Given the description of an element on the screen output the (x, y) to click on. 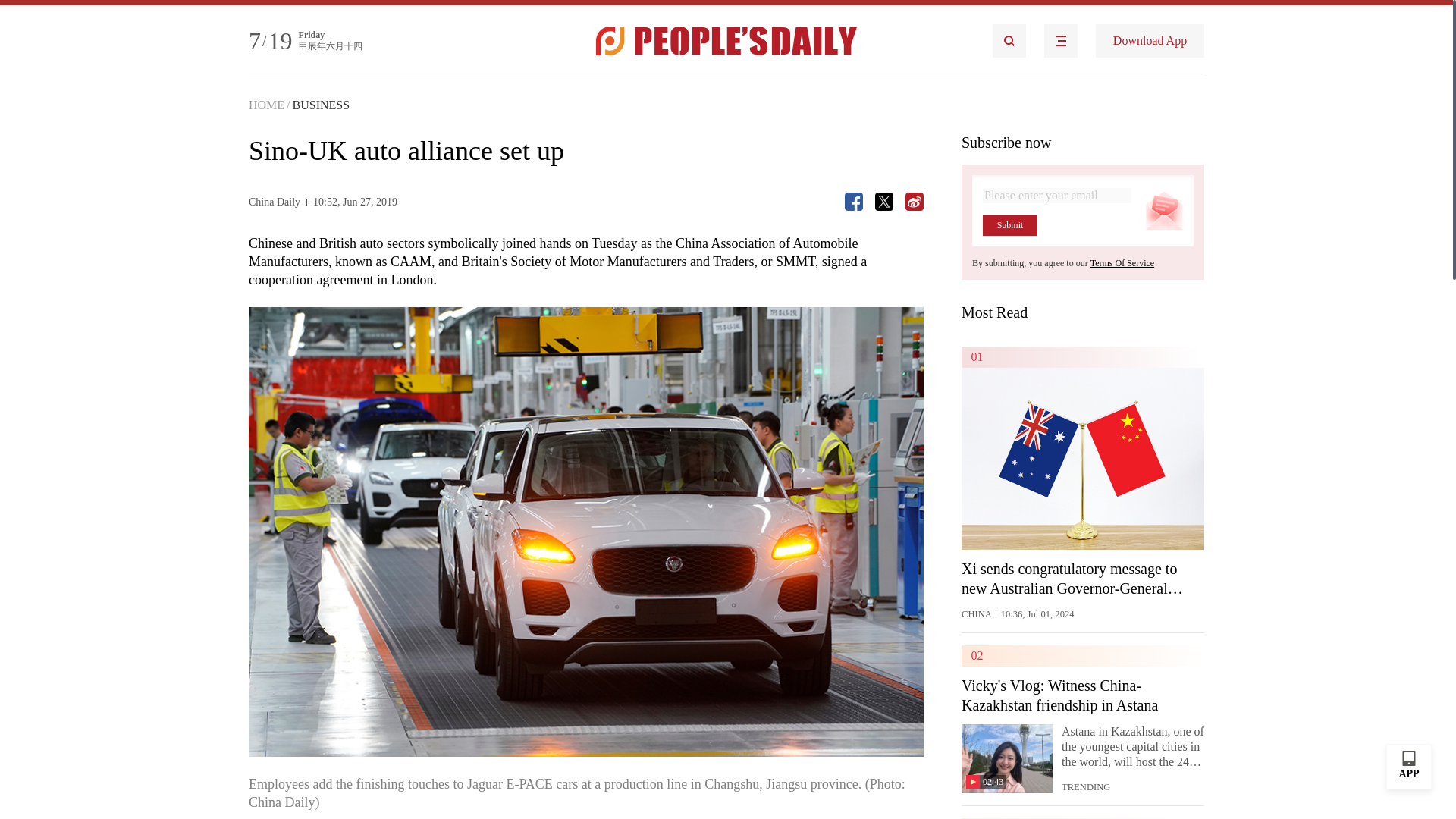
HOME (265, 105)
Terms Of Service (1122, 262)
Download App (1150, 40)
